Given the description of an element on the screen output the (x, y) to click on. 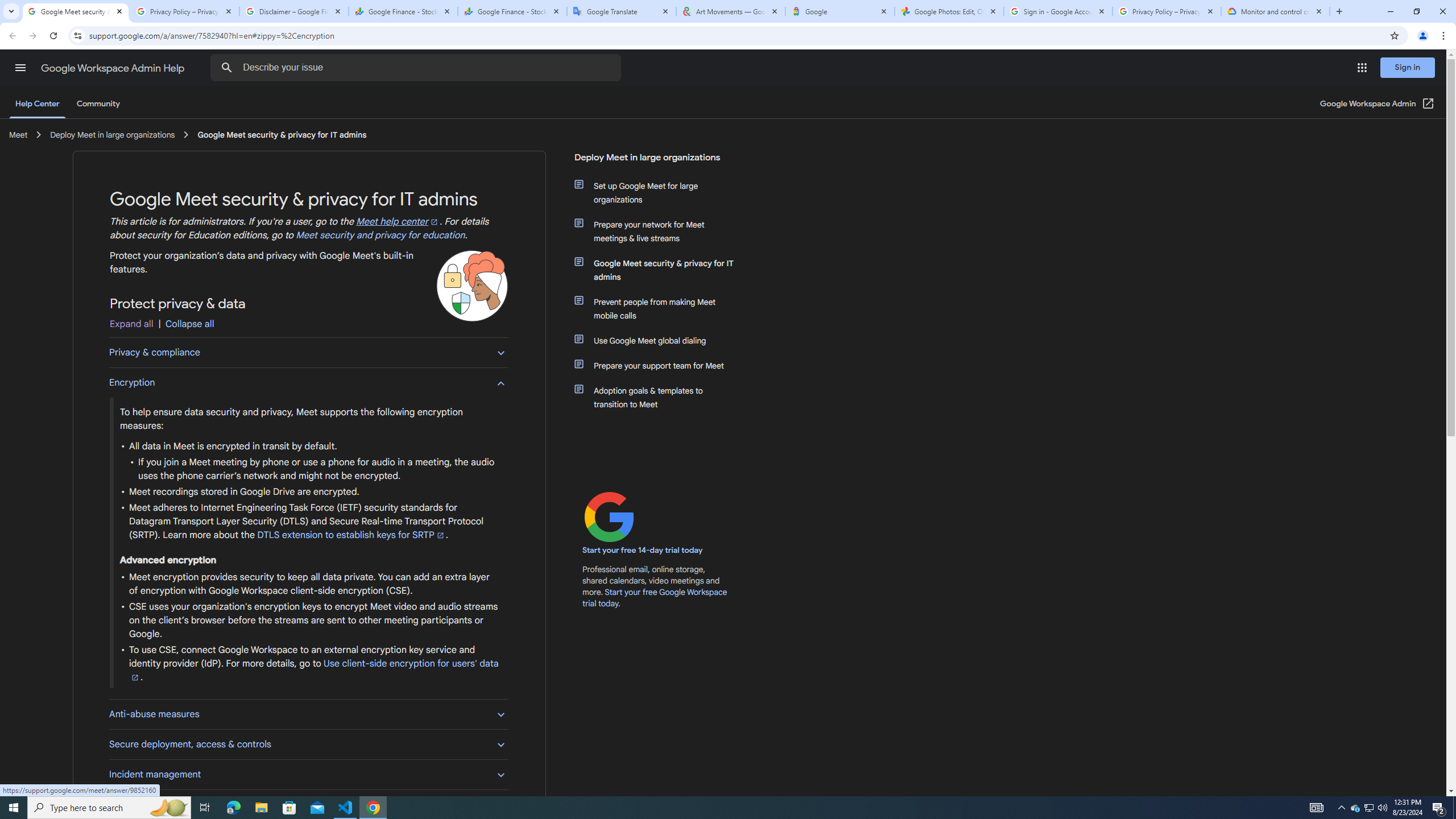
Privacy & compliance (308, 352)
Start your free 14-day trial today (642, 550)
